Given the description of an element on the screen output the (x, y) to click on. 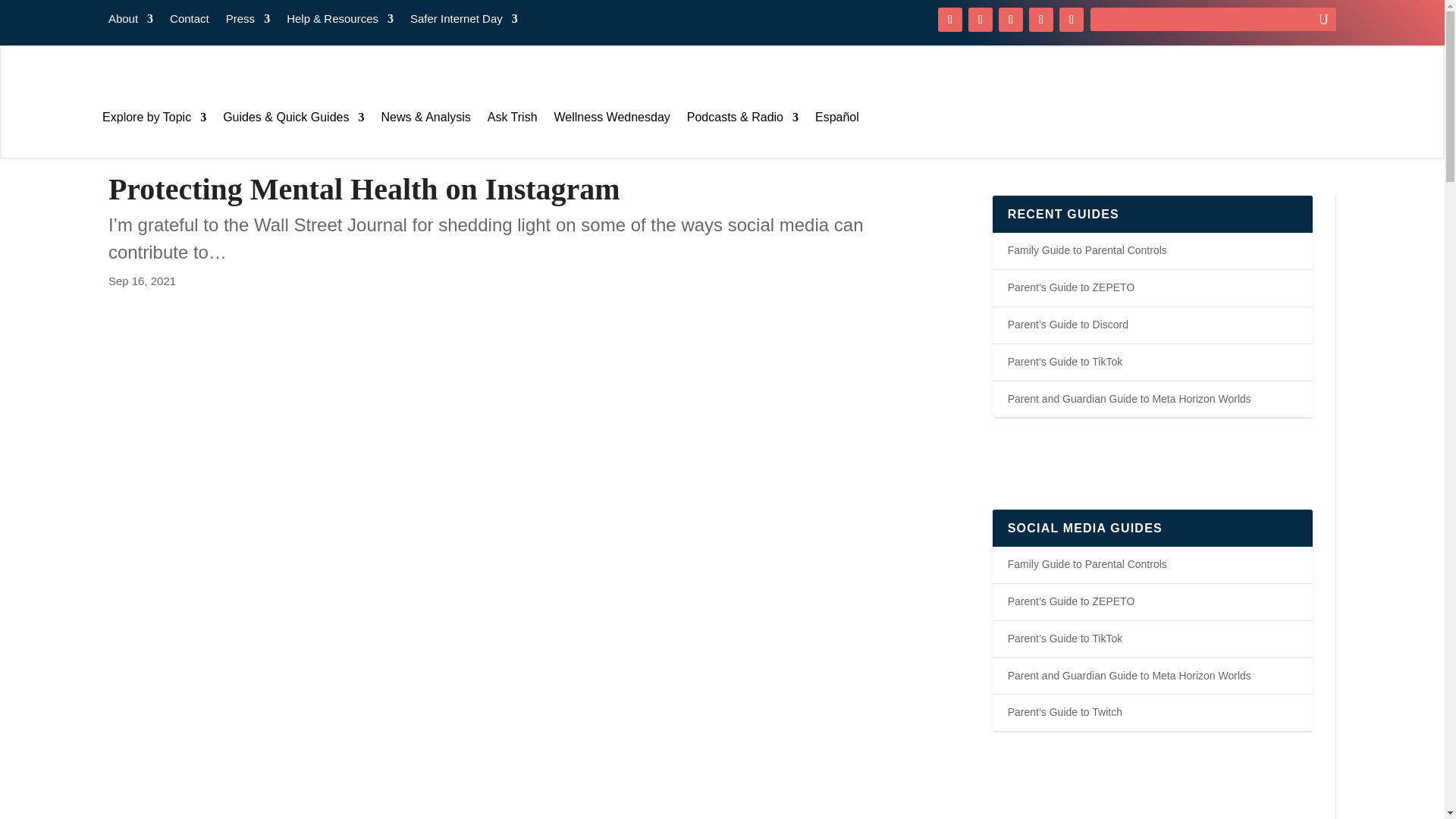
Search (24, 13)
Follow on Facebook (949, 19)
Press (247, 21)
Follow on Instagram (1010, 19)
Follow on LinkedIn (1071, 19)
Follow on X (980, 19)
About (129, 21)
Safer Internet Day (464, 21)
Follow on Youtube (1040, 19)
Contact (189, 21)
